Given the description of an element on the screen output the (x, y) to click on. 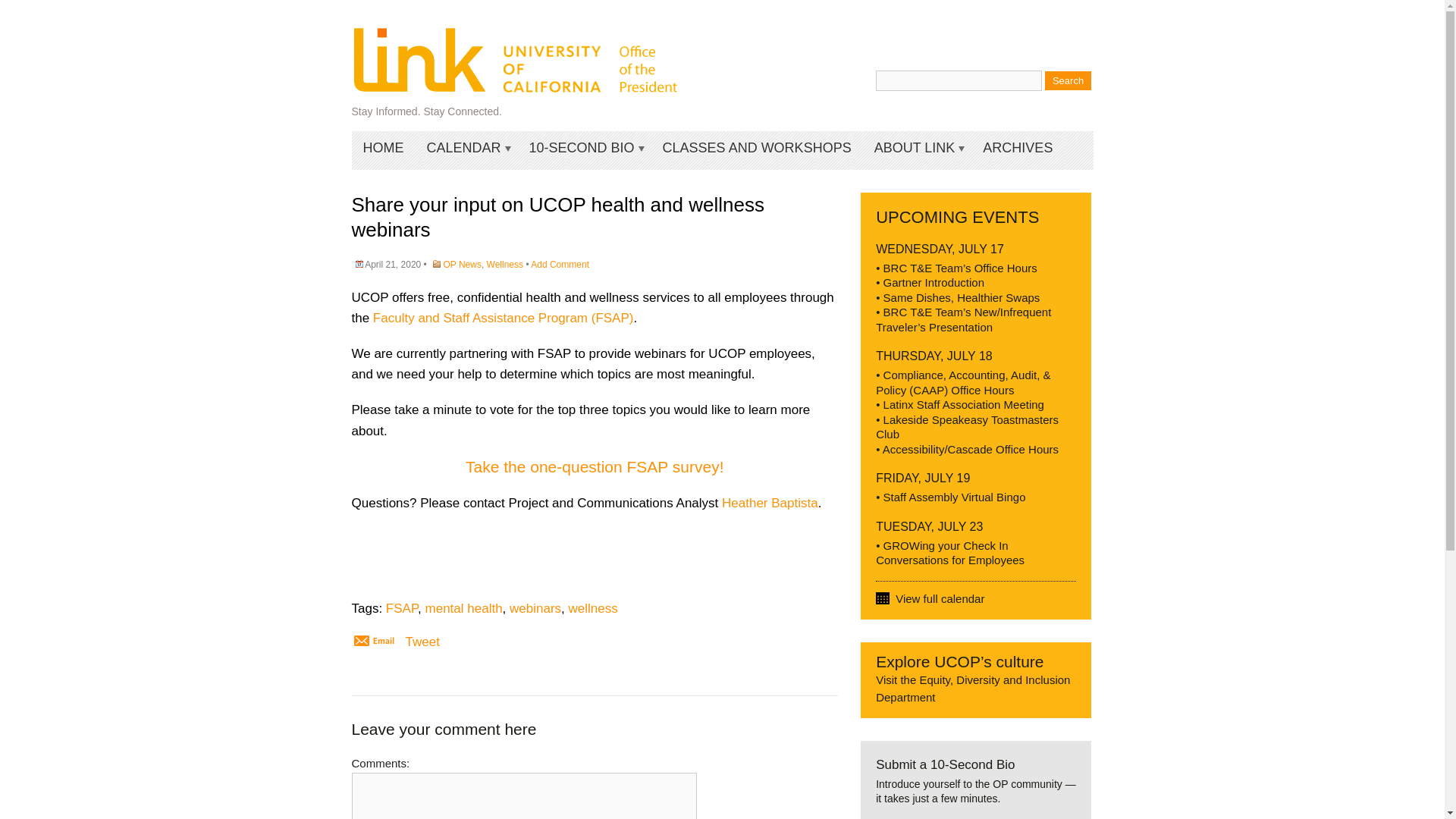
Same Dishes, Healthier Swaps (962, 297)
Search (1067, 80)
Search (1067, 80)
Add Comment (560, 264)
OP News (461, 264)
FSAP (401, 608)
webinars (534, 608)
Latinx Staff Association Meeting (963, 404)
Take the one-question FSAP survey! (594, 466)
Lakeside Speakeasy Toastmasters Club (967, 426)
mental health (463, 608)
ARCHIVES (1017, 147)
HOME (383, 147)
wellness (593, 608)
